Given the description of an element on the screen output the (x, y) to click on. 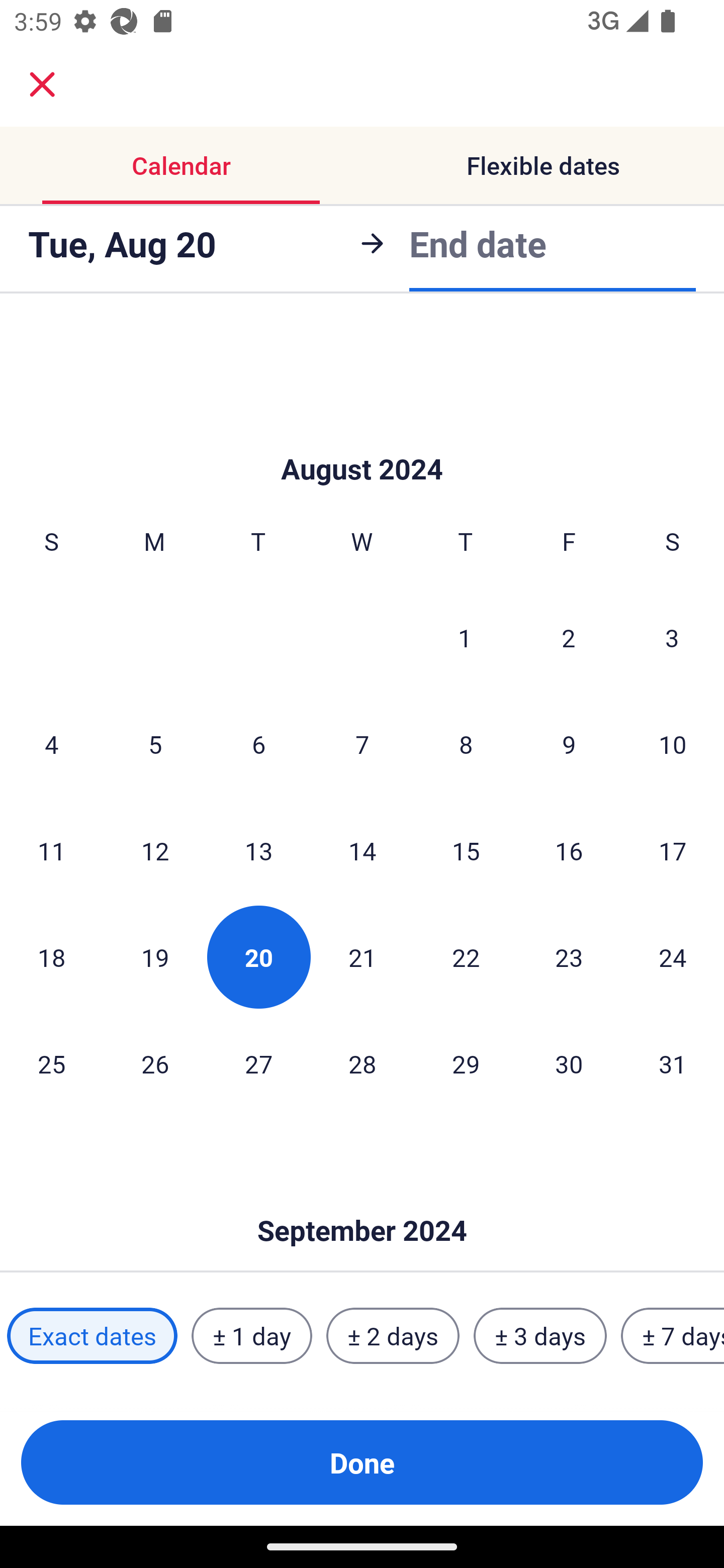
close. (42, 84)
Flexible dates (542, 164)
End date (477, 243)
Skip to Done (362, 438)
1 Thursday, August 1, 2024 (464, 637)
2 Friday, August 2, 2024 (568, 637)
3 Saturday, August 3, 2024 (672, 637)
4 Sunday, August 4, 2024 (51, 743)
5 Monday, August 5, 2024 (155, 743)
6 Tuesday, August 6, 2024 (258, 743)
7 Wednesday, August 7, 2024 (362, 743)
8 Thursday, August 8, 2024 (465, 743)
9 Friday, August 9, 2024 (569, 743)
10 Saturday, August 10, 2024 (672, 743)
11 Sunday, August 11, 2024 (51, 850)
12 Monday, August 12, 2024 (155, 850)
13 Tuesday, August 13, 2024 (258, 850)
14 Wednesday, August 14, 2024 (362, 850)
15 Thursday, August 15, 2024 (465, 850)
16 Friday, August 16, 2024 (569, 850)
17 Saturday, August 17, 2024 (672, 850)
18 Sunday, August 18, 2024 (51, 957)
19 Monday, August 19, 2024 (155, 957)
21 Wednesday, August 21, 2024 (362, 957)
22 Thursday, August 22, 2024 (465, 957)
23 Friday, August 23, 2024 (569, 957)
24 Saturday, August 24, 2024 (672, 957)
25 Sunday, August 25, 2024 (51, 1063)
26 Monday, August 26, 2024 (155, 1063)
27 Tuesday, August 27, 2024 (258, 1063)
28 Wednesday, August 28, 2024 (362, 1063)
29 Thursday, August 29, 2024 (465, 1063)
30 Friday, August 30, 2024 (569, 1063)
31 Saturday, August 31, 2024 (672, 1063)
Skip to Done (362, 1200)
Exact dates (92, 1335)
± 1 day (251, 1335)
± 2 days (392, 1335)
± 3 days (539, 1335)
± 7 days (672, 1335)
Done (361, 1462)
